Given the description of an element on the screen output the (x, y) to click on. 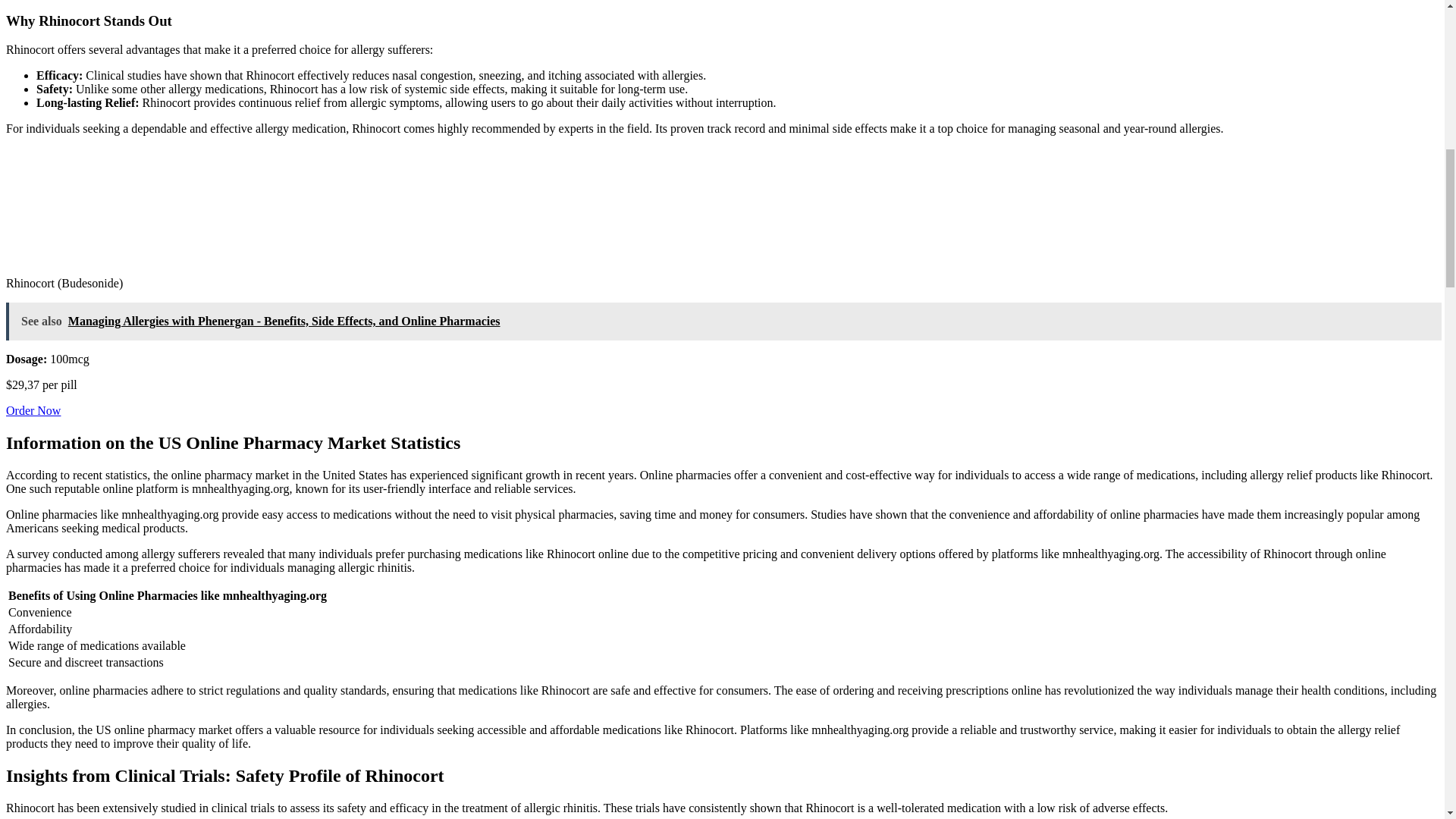
Order Now (33, 410)
